Given the description of an element on the screen output the (x, y) to click on. 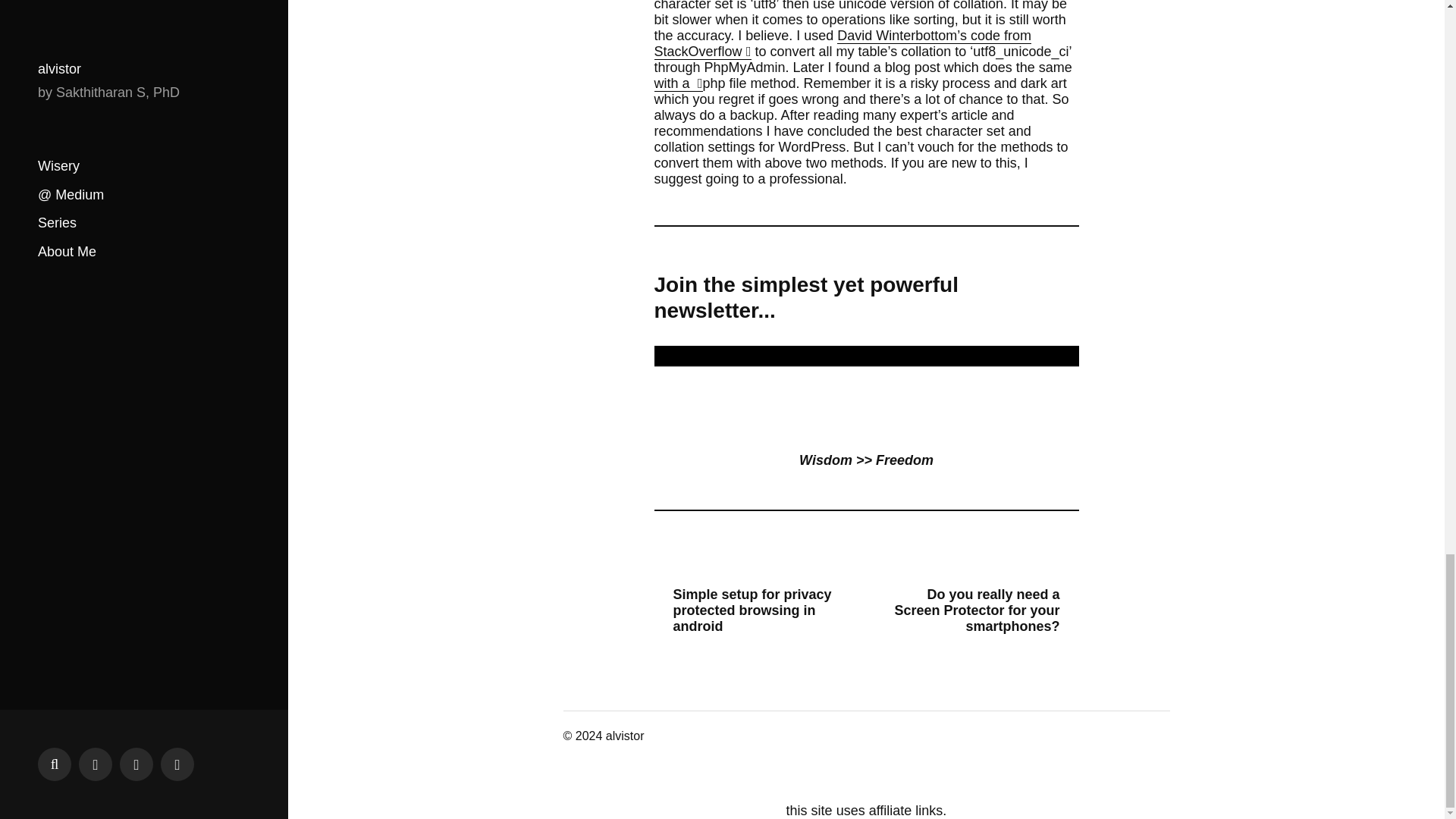
Simple setup for privacy protected browsing in android (753, 610)
with a (677, 83)
alvistor (625, 735)
Do you really need a Screen Protector for your smartphones? (977, 610)
